Given the description of an element on the screen output the (x, y) to click on. 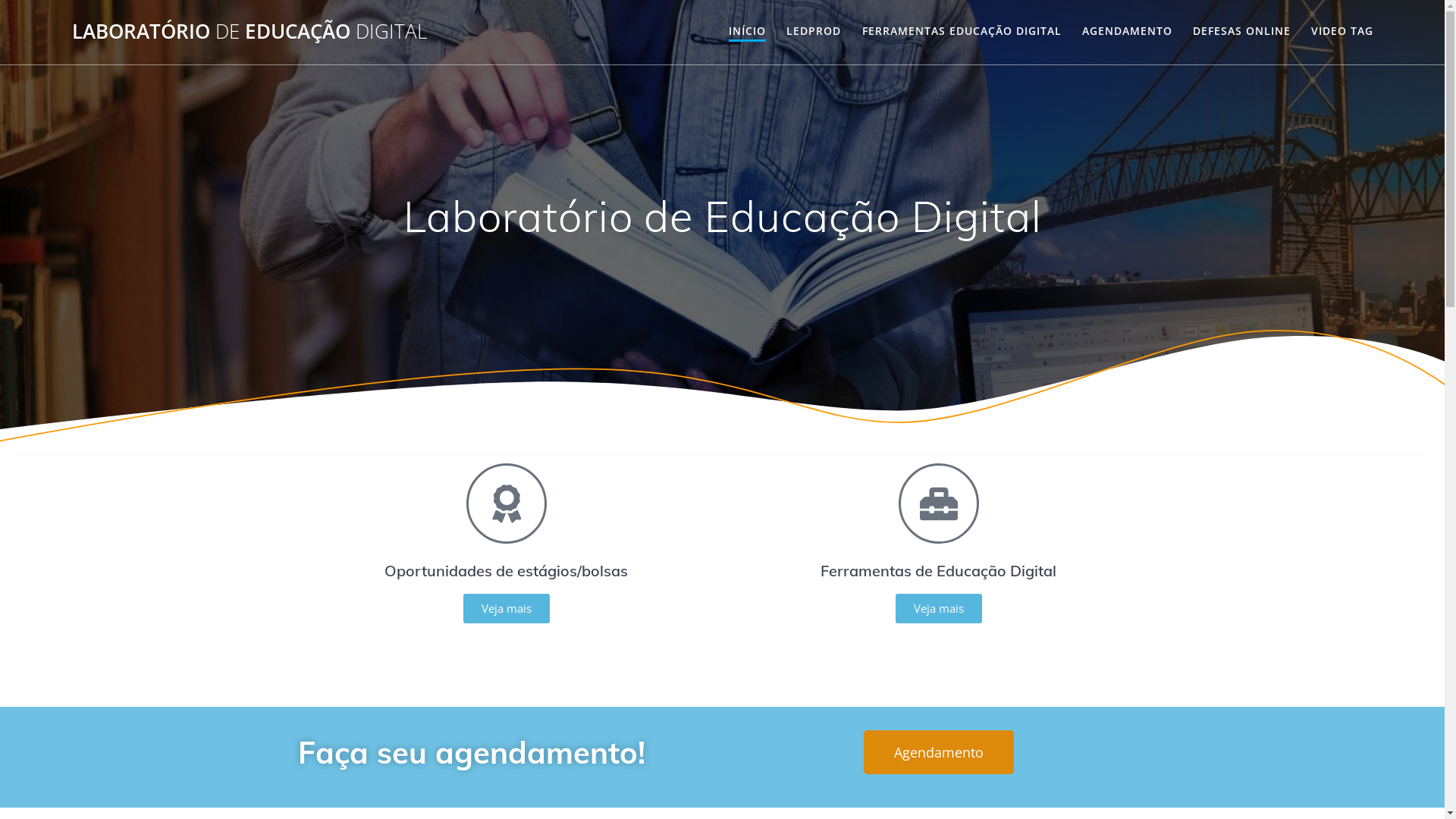
DEFESAS ONLINE Element type: text (1241, 30)
VIDEO TAG Element type: text (1342, 30)
Agendamento Element type: text (937, 752)
Veja mais Element type: text (505, 608)
AGENDAMENTO Element type: text (1127, 30)
Veja mais Element type: text (937, 608)
LEDPROD Element type: text (813, 30)
